Given the description of an element on the screen output the (x, y) to click on. 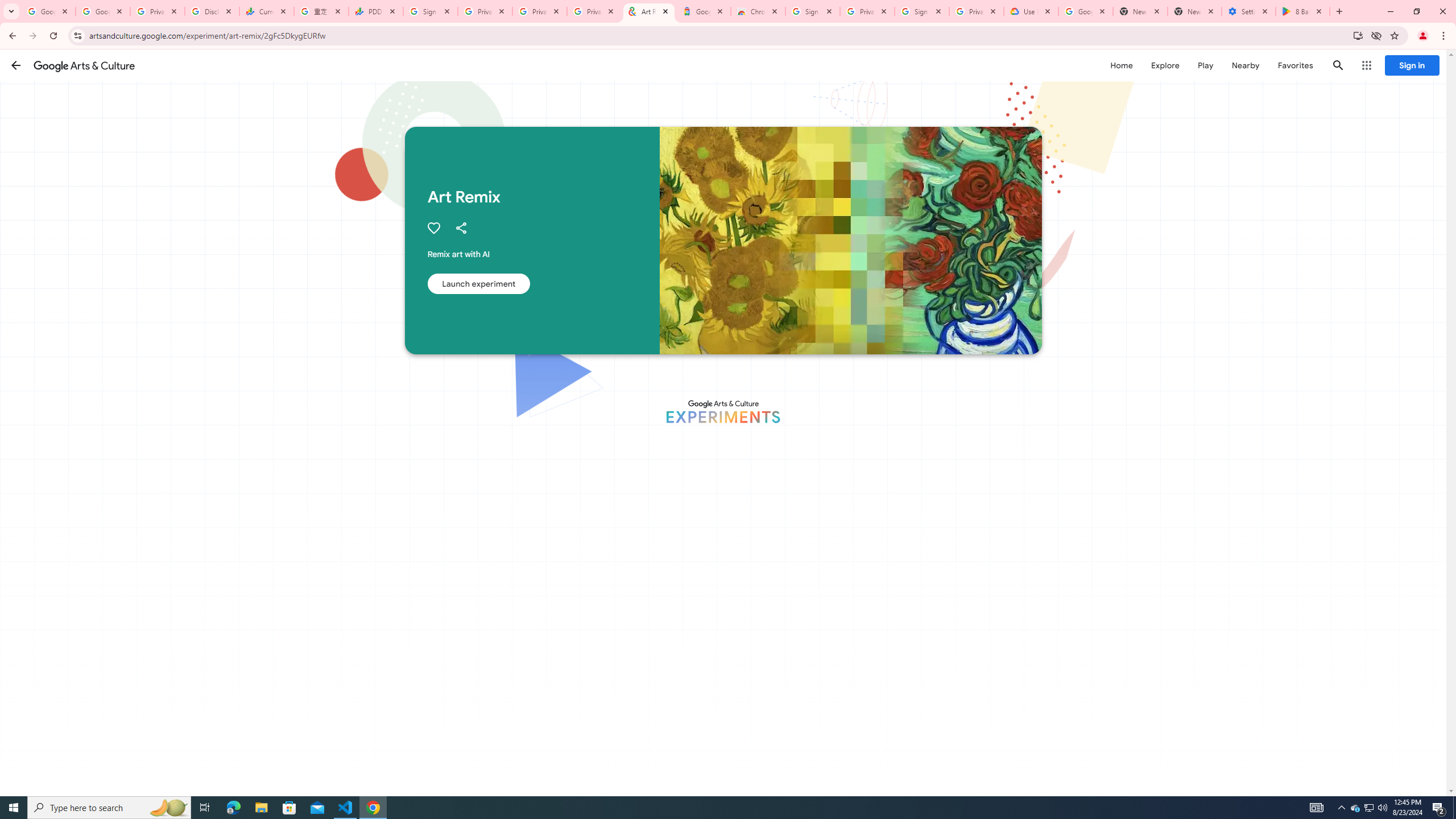
Sign in - Google Accounts (430, 11)
Play (1205, 65)
Privacy Checkup (539, 11)
PDD Holdings Inc - ADR (PDD) Price & News - Google Finance (375, 11)
Sign in - Google Accounts (921, 11)
Favorites (1295, 65)
Launch experiment (477, 283)
